Given the description of an element on the screen output the (x, y) to click on. 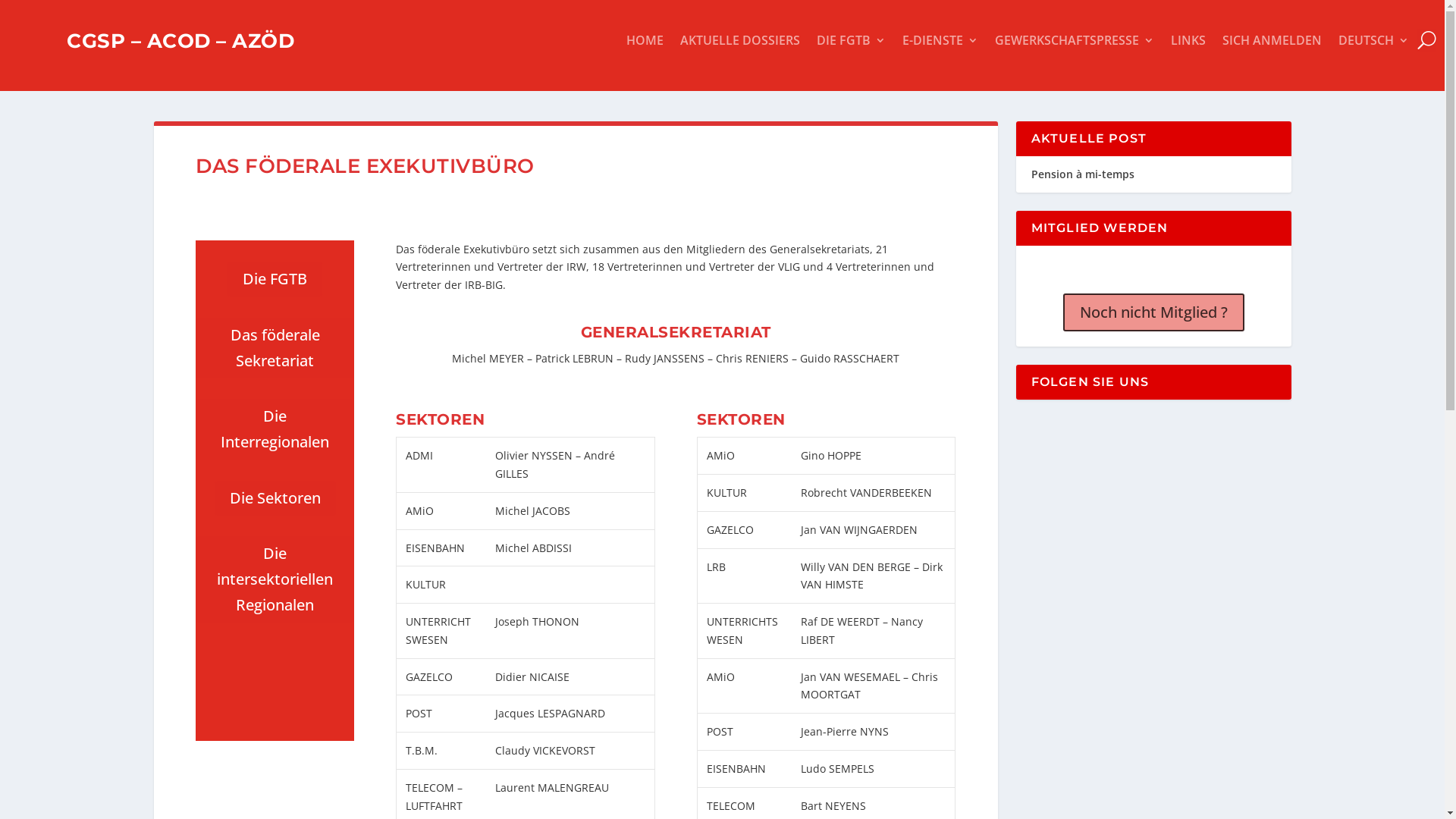
SICH ANMELDEN Element type: text (1271, 42)
Noch nicht Mitglied ? Element type: text (1153, 313)
Die Interregionalen Element type: text (274, 428)
Die Sektoren Element type: text (274, 497)
LINKS Element type: text (1187, 42)
HOME Element type: text (644, 42)
Die FGTB Element type: text (274, 278)
DEUTSCH Element type: text (1373, 42)
GEWERKSCHAFTSPRESSE Element type: text (1074, 42)
E-DIENSTE Element type: text (940, 42)
Die intersektoriellen Regionalen Element type: text (274, 579)
AKTUELLE DOSSIERS Element type: text (740, 42)
DIE FGTB Element type: text (850, 42)
